Given the description of an element on the screen output the (x, y) to click on. 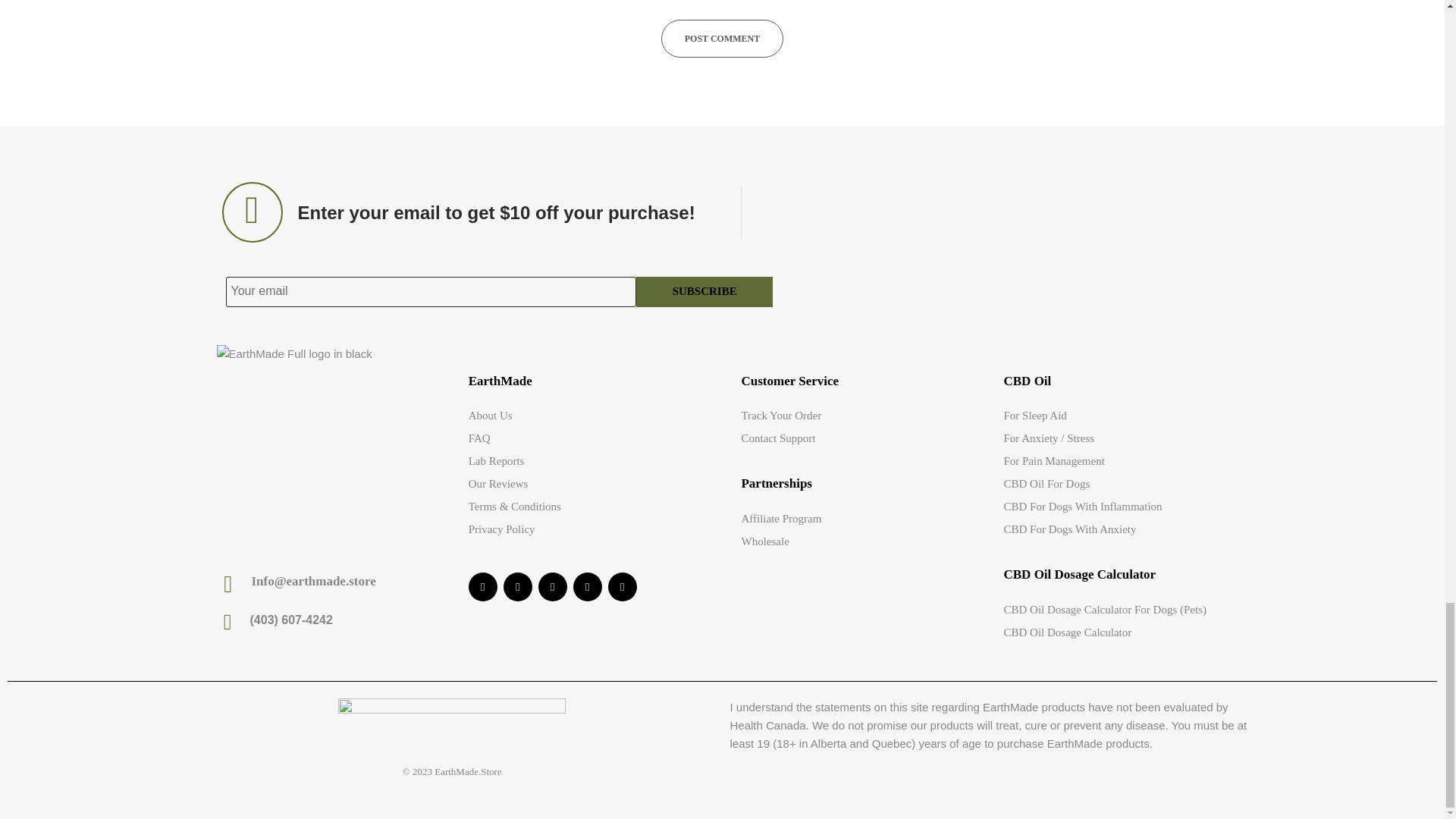
Post Comment (722, 38)
